Given the description of an element on the screen output the (x, y) to click on. 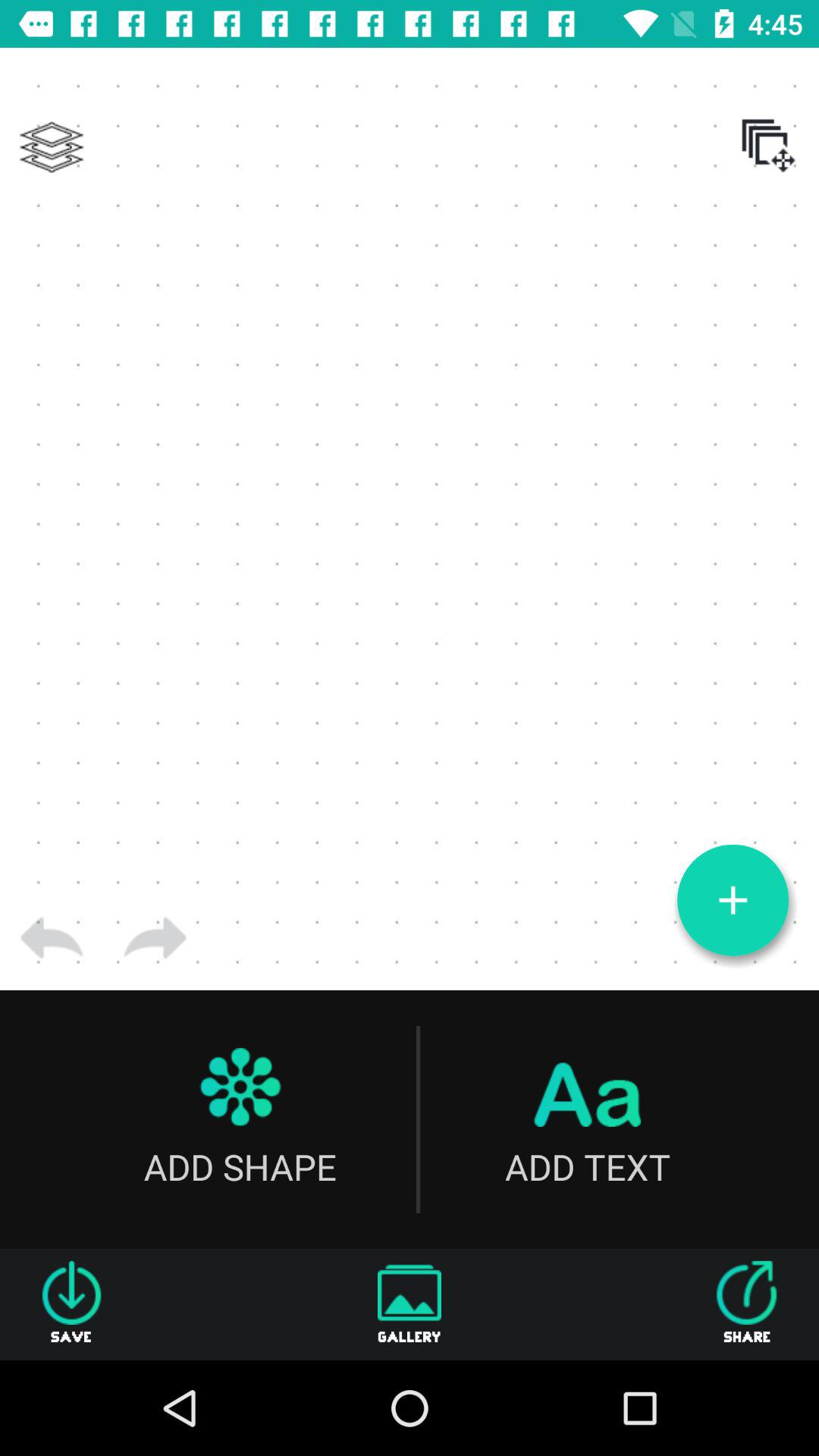
swipe to the add text icon (587, 1119)
